Given the description of an element on the screen output the (x, y) to click on. 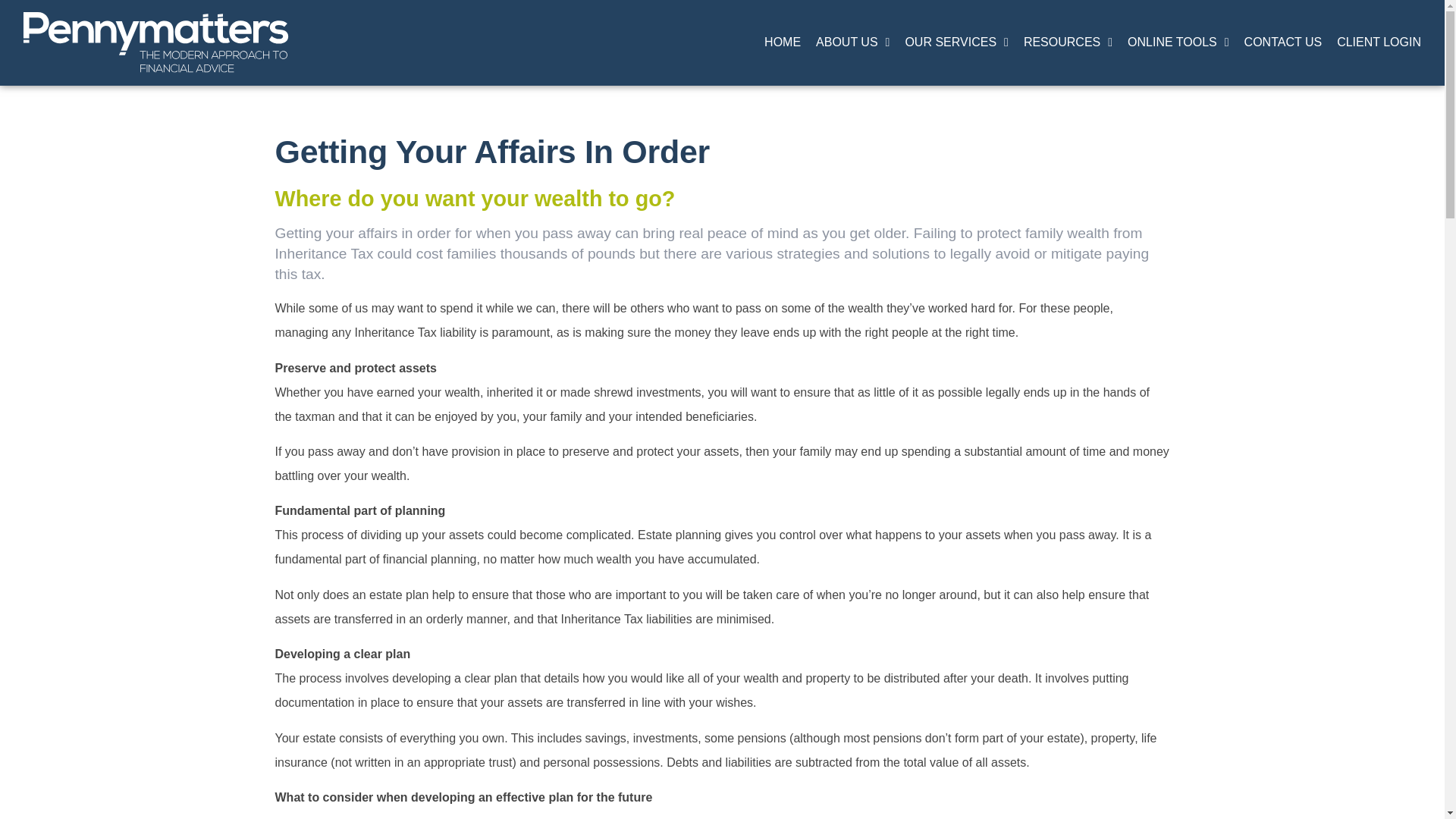
RESOURCES (1068, 42)
HOME (782, 42)
CLIENT LOGIN (1379, 42)
ONLINE TOOLS (1178, 42)
ABOUT US (852, 42)
CONTACT US (1283, 42)
OUR SERVICES (956, 42)
